Given the description of an element on the screen output the (x, y) to click on. 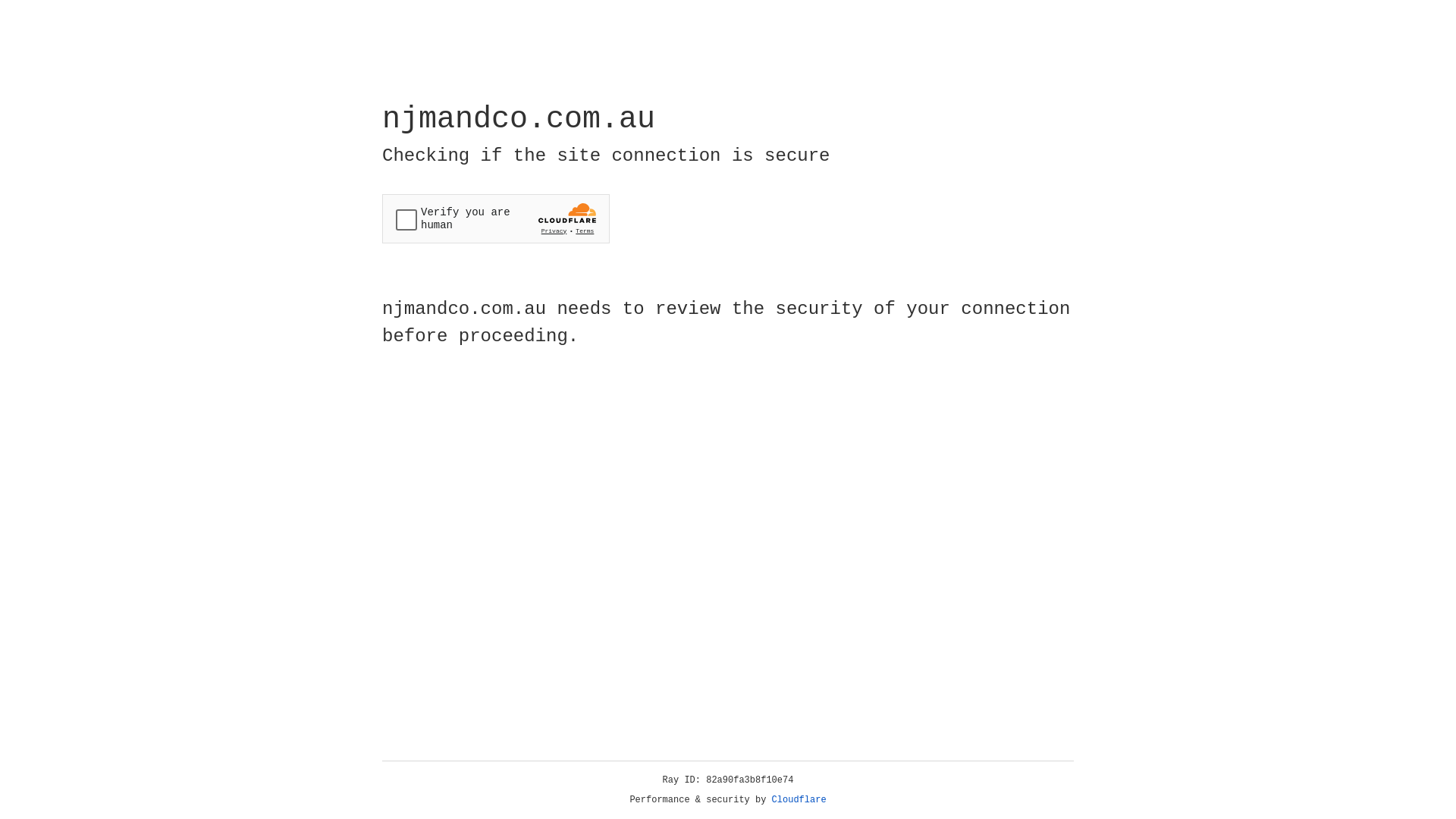
Widget containing a Cloudflare security challenge Element type: hover (495, 218)
Cloudflare Element type: text (798, 799)
